Given the description of an element on the screen output the (x, y) to click on. 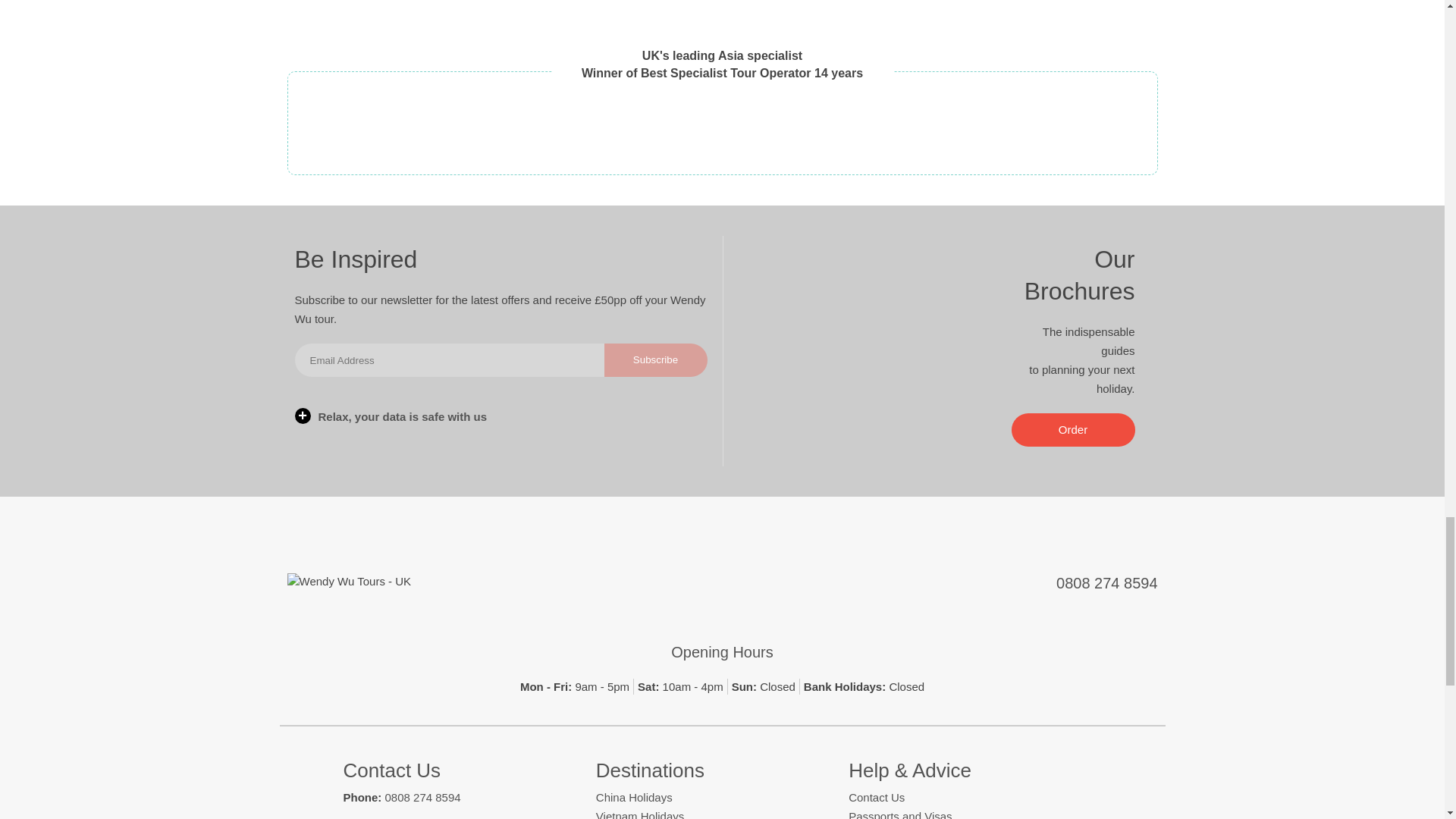
Twitter (672, 591)
Facebook (621, 591)
